Given the description of an element on the screen output the (x, y) to click on. 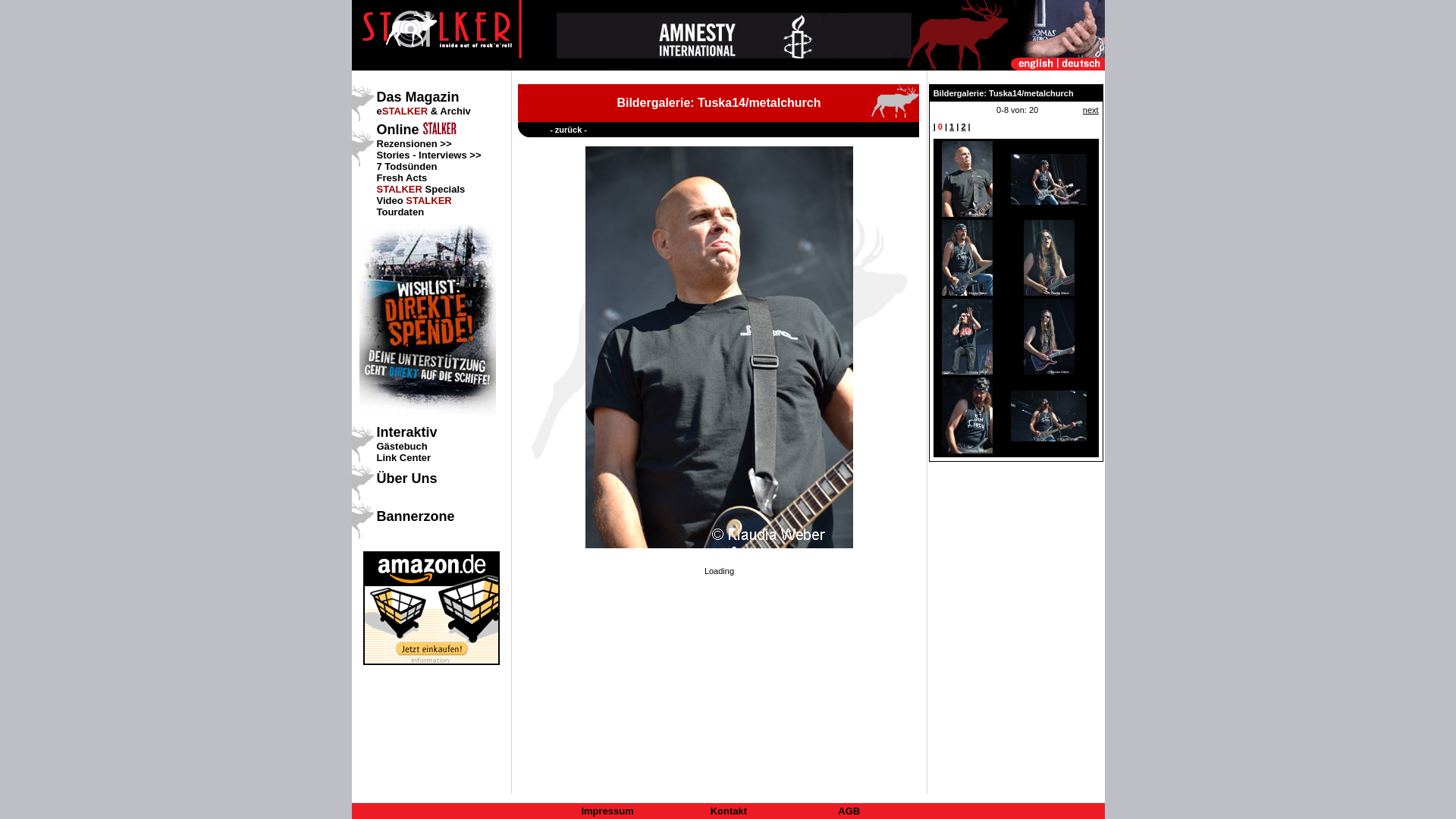
next Element type: text (1090, 109)
STALKER Specials Element type: text (420, 188)
Kontakt Element type: text (728, 810)
Impressum Element type: text (606, 810)
Interaktiv Element type: text (406, 431)
eSTALKER & Archiv Element type: text (423, 110)
Rezensionen Element type: text (406, 143)
Fresh Acts Element type: text (401, 177)
2 Element type: text (962, 126)
1 Element type: text (951, 126)
Stories - Interviews Element type: text (421, 154)
Link Center Element type: text (403, 457)
Video STALKER Element type: text (413, 200)
Tourdaten Element type: text (399, 211)
AGB Element type: text (848, 810)
Bannerzone Element type: text (415, 516)
